Given the description of an element on the screen output the (x, y) to click on. 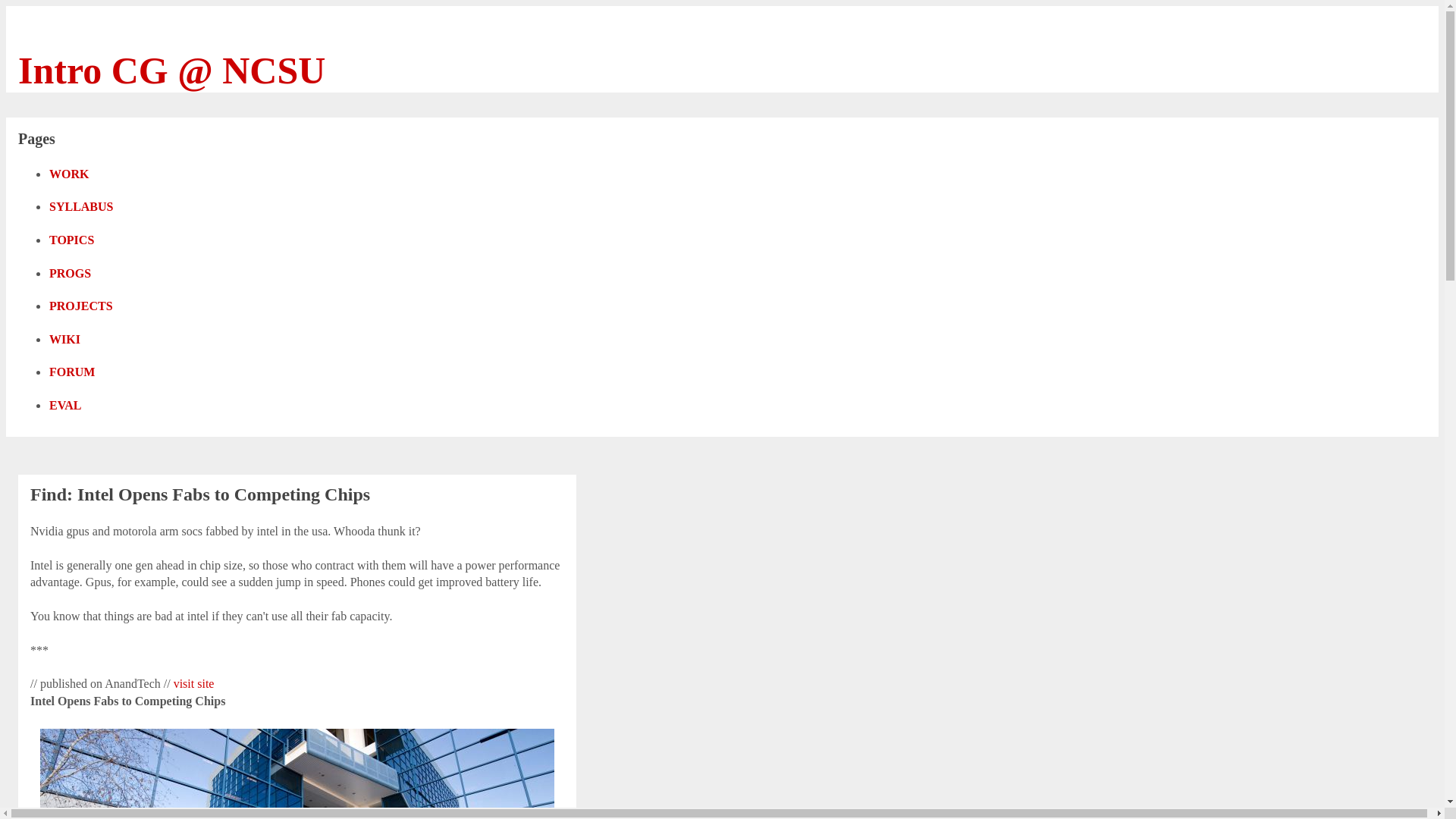
EVAL (74, 408)
TOPICS (80, 242)
PROJECTS (89, 308)
SYLLABUS (89, 209)
visit site (193, 683)
PROGS (78, 275)
FORUM (80, 375)
WORK (77, 176)
WIKI (73, 341)
